Given the description of an element on the screen output the (x, y) to click on. 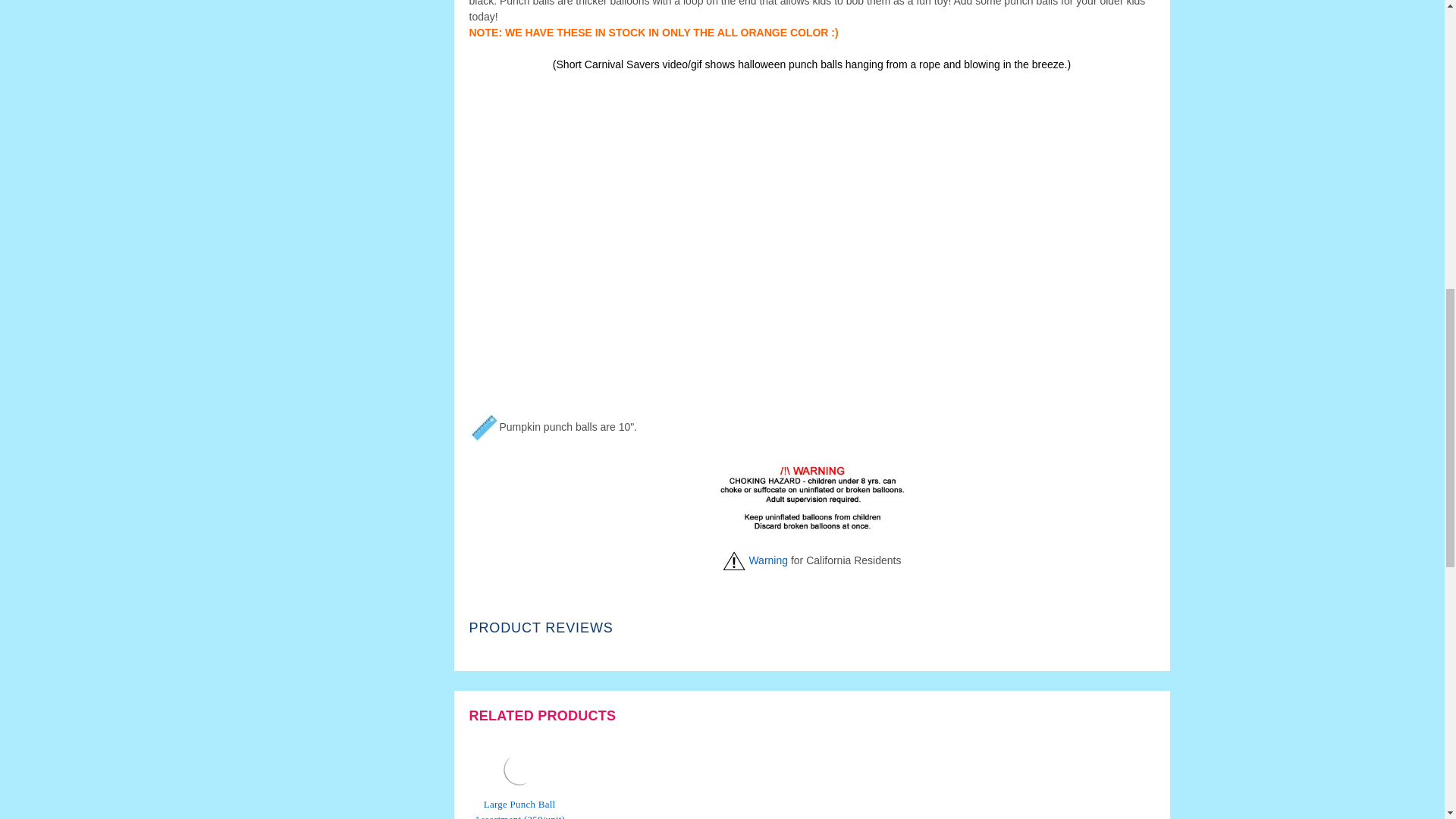
0w.png (733, 560)
balloon-warning.jpg (812, 495)
Carnival Prize - punch balls hanging outside (519, 769)
